Given the description of an element on the screen output the (x, y) to click on. 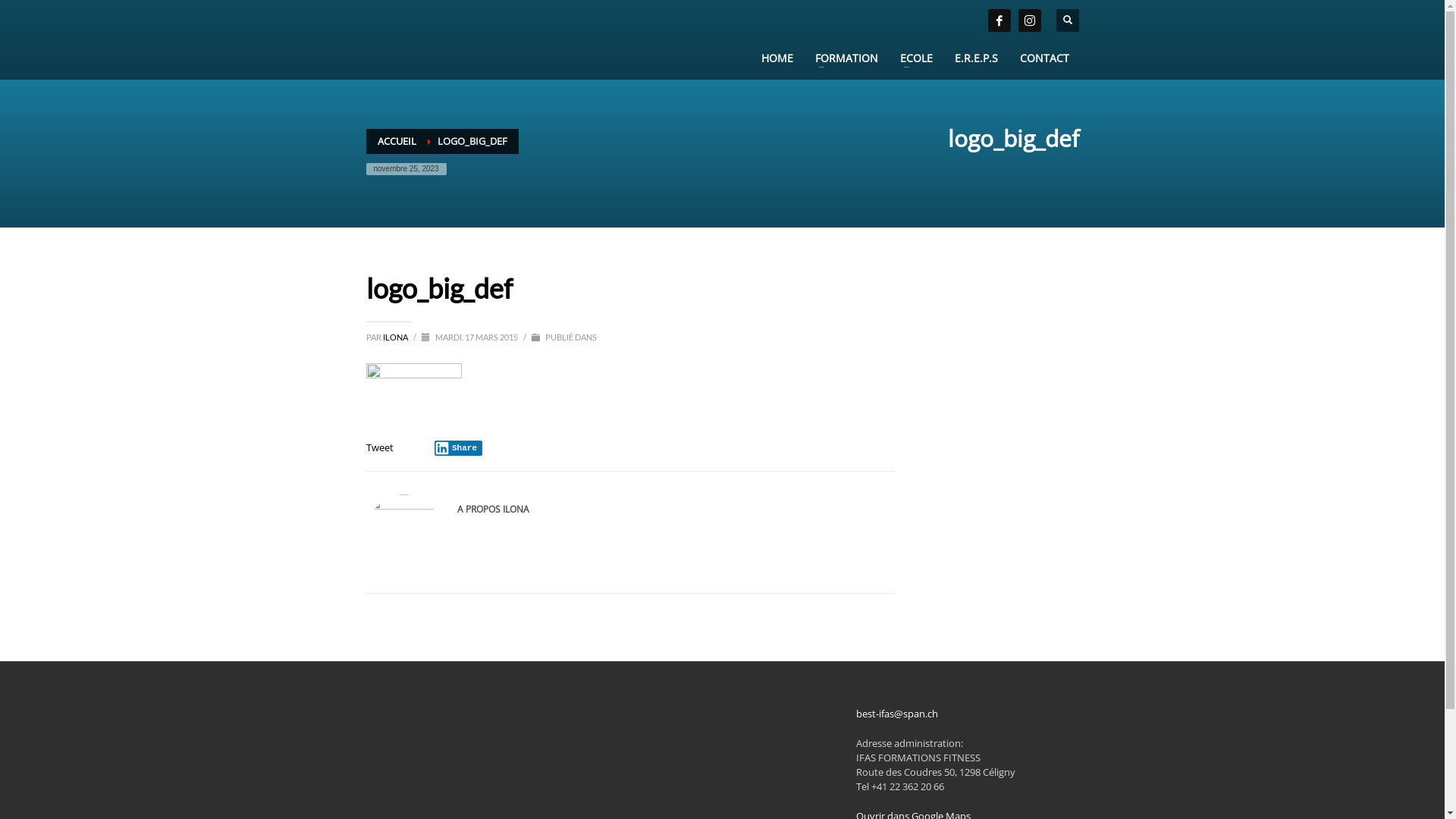
Tweet Element type: text (378, 447)
ECOLE Element type: text (916, 58)
E.R.E.P.S Element type: text (976, 58)
ILONA Element type: text (395, 337)
FORMATION Element type: text (846, 58)
CONTACT Element type: text (1044, 58)
facebook Element type: hover (998, 20)
ACCUEIL Element type: text (396, 140)
HOME Element type: text (777, 58)
Share Element type: text (457, 447)
instagram Element type: hover (1028, 20)
best-ifas@span.ch Element type: text (897, 713)
